Given the description of an element on the screen output the (x, y) to click on. 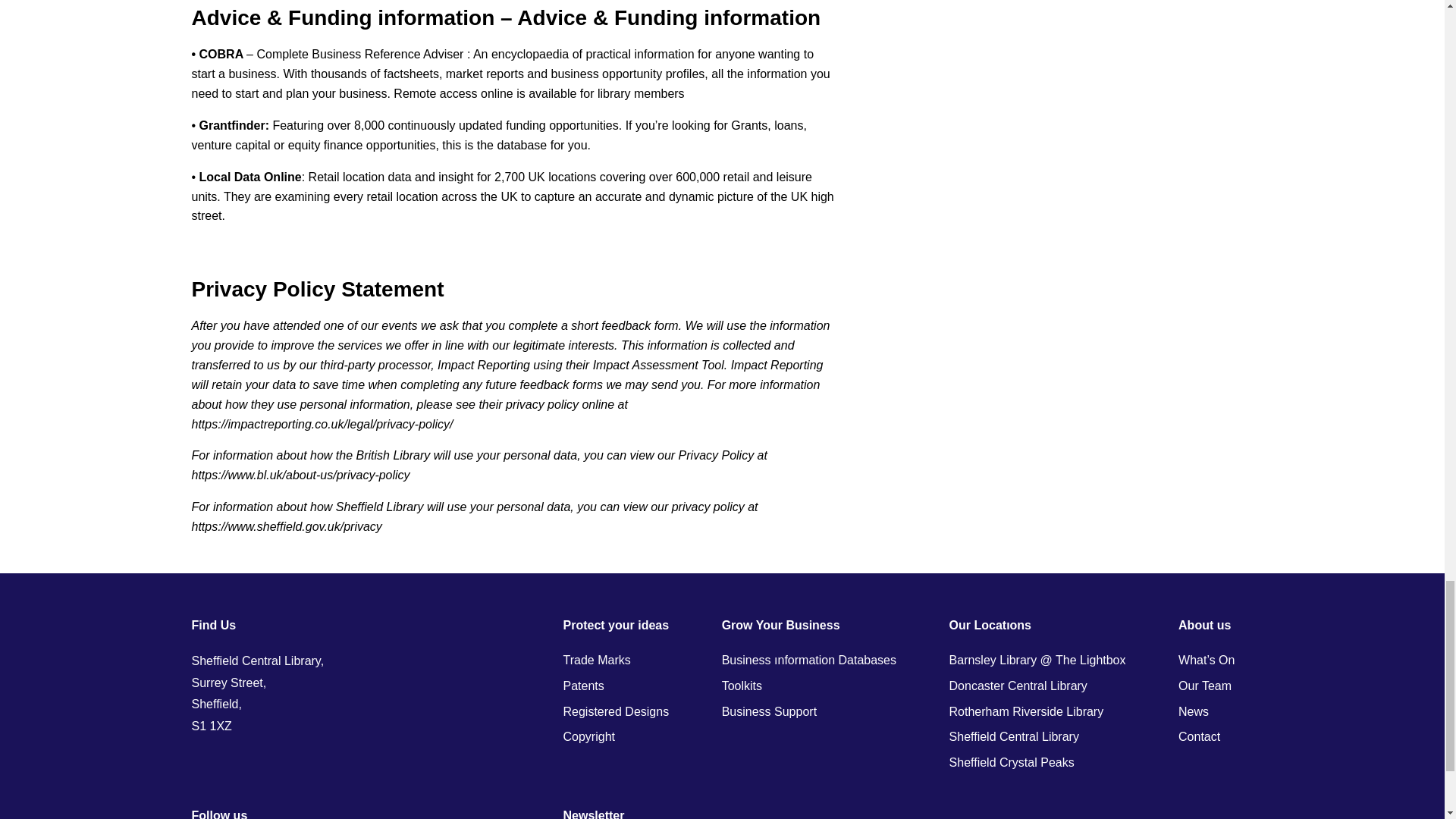
Protect your ideas (615, 625)
